Given the description of an element on the screen output the (x, y) to click on. 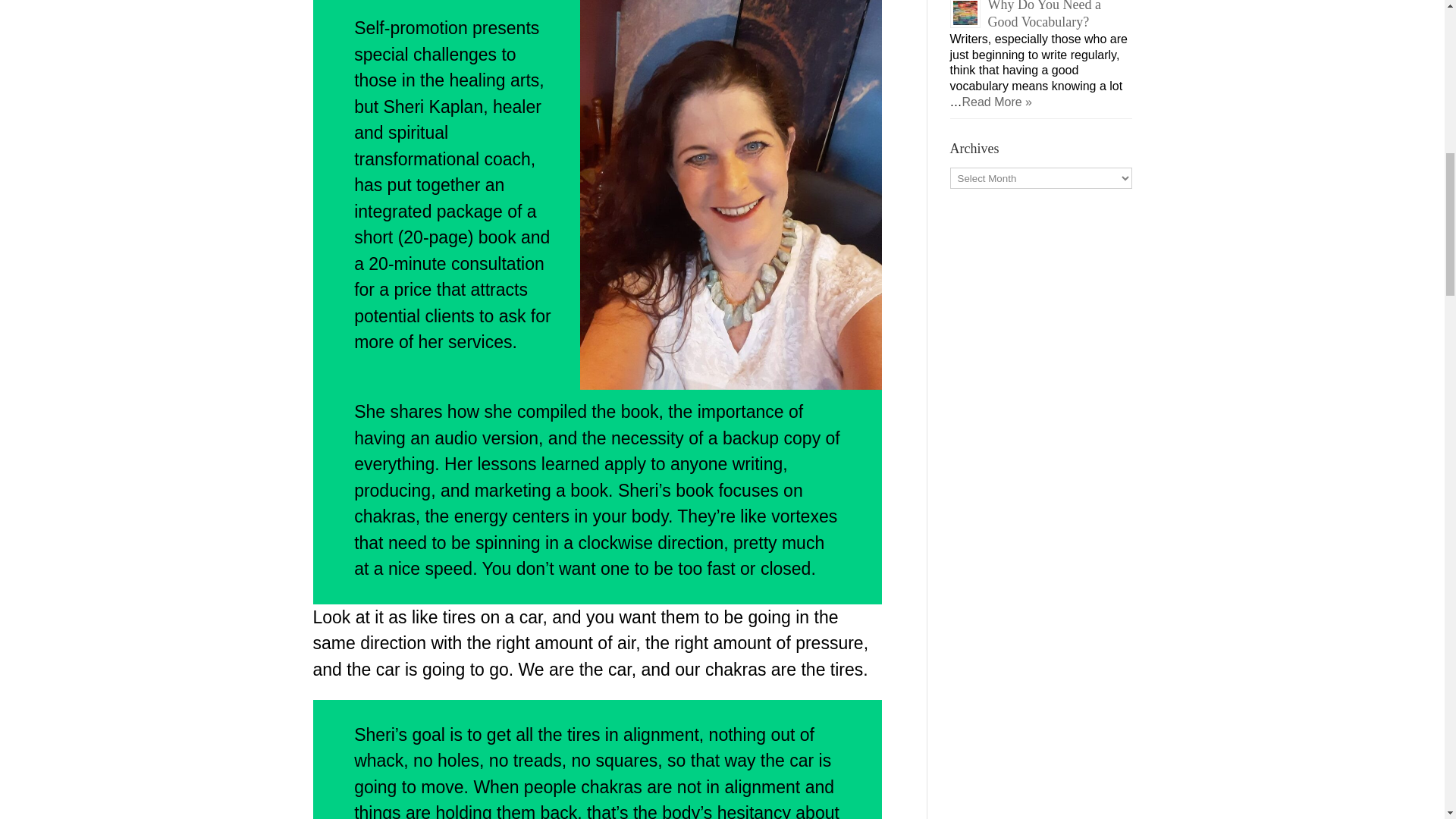
Why Do You Need a Good Vocabulary? (1043, 14)
